Given the description of an element on the screen output the (x, y) to click on. 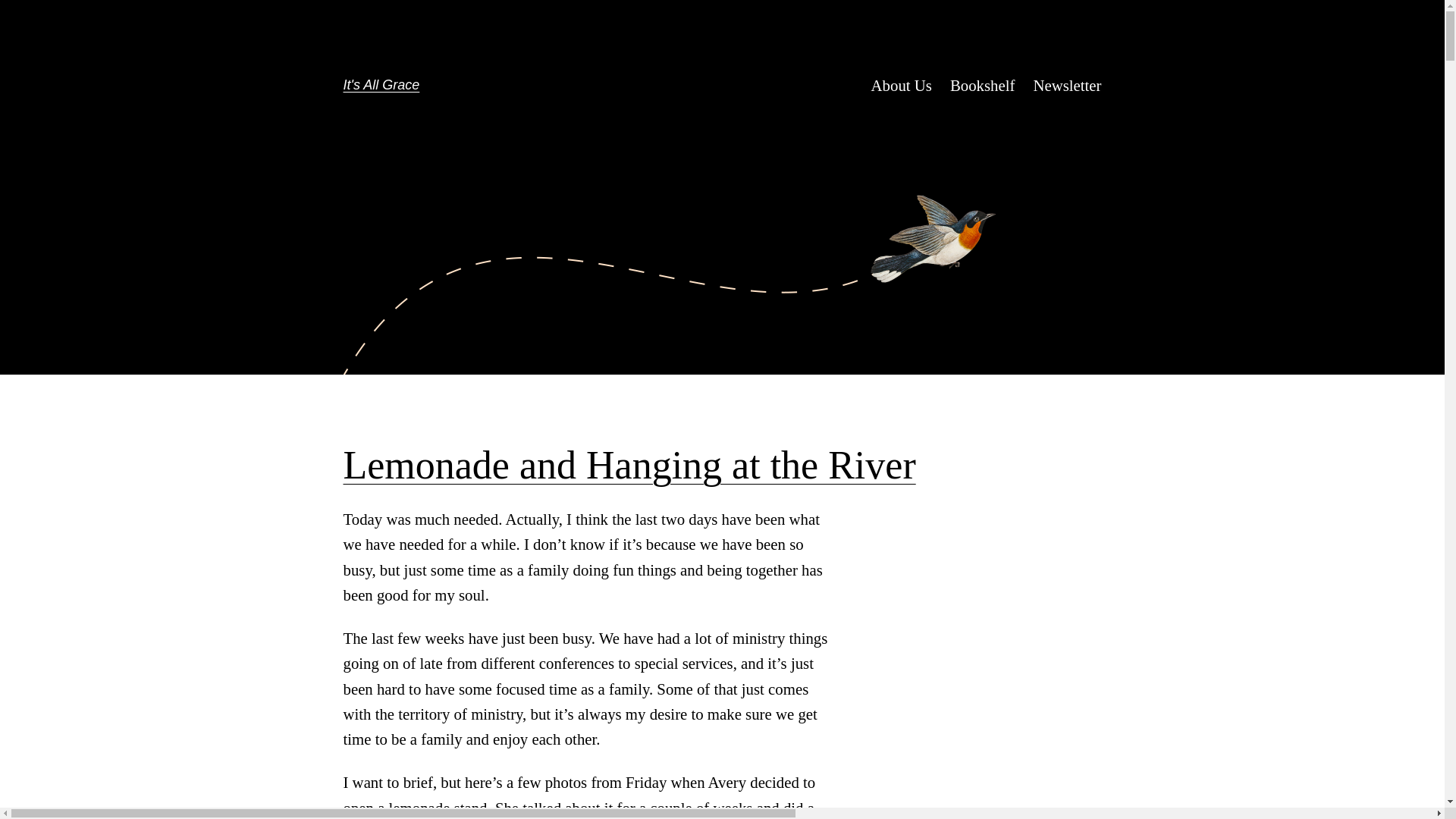
About Us (900, 84)
It's All Grace (380, 84)
Bookshelf (982, 84)
Newsletter (1066, 84)
Lemonade and Hanging at the River (628, 465)
